Given the description of an element on the screen output the (x, y) to click on. 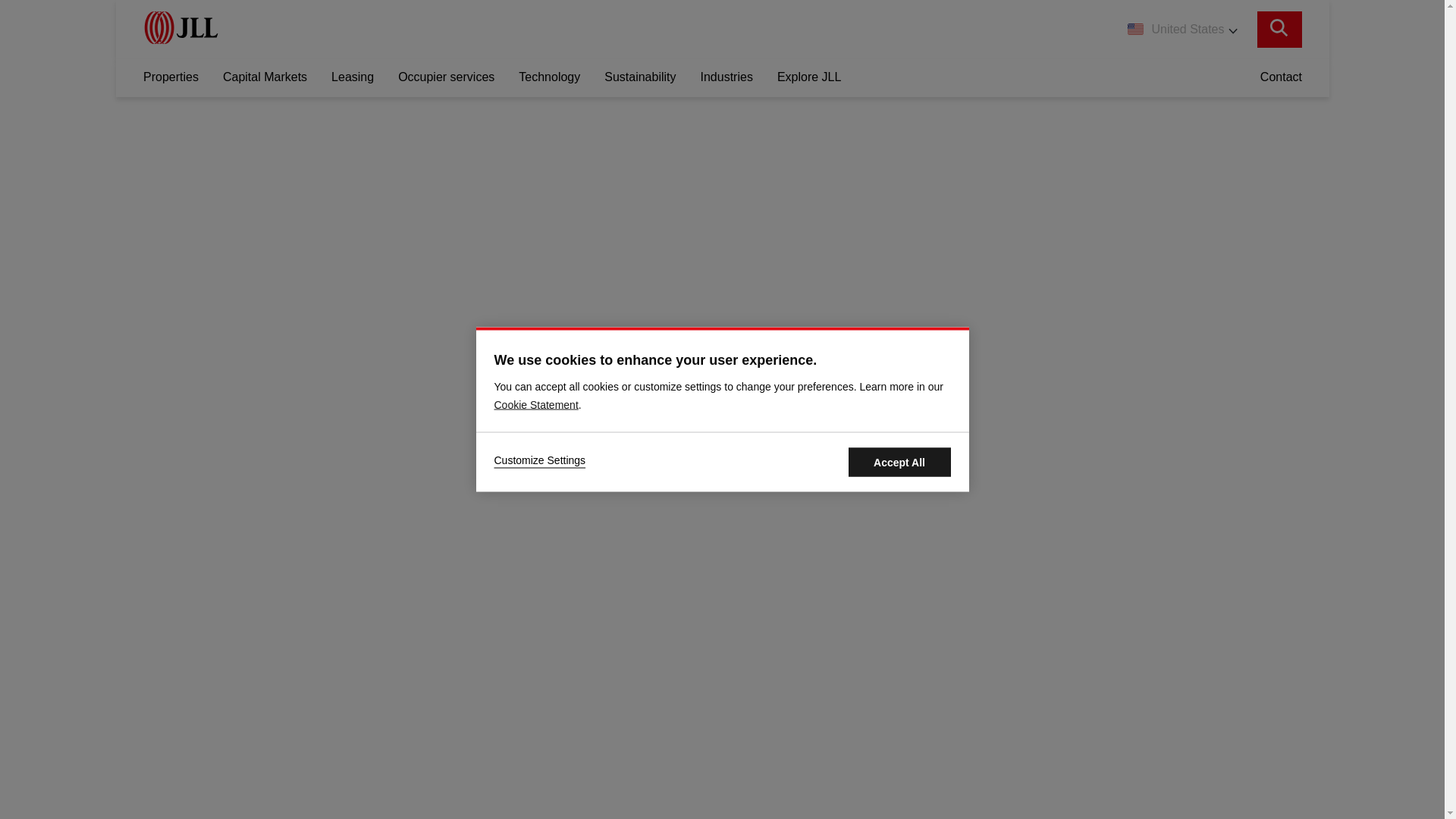
United States (1181, 29)
